Given the description of an element on the screen output the (x, y) to click on. 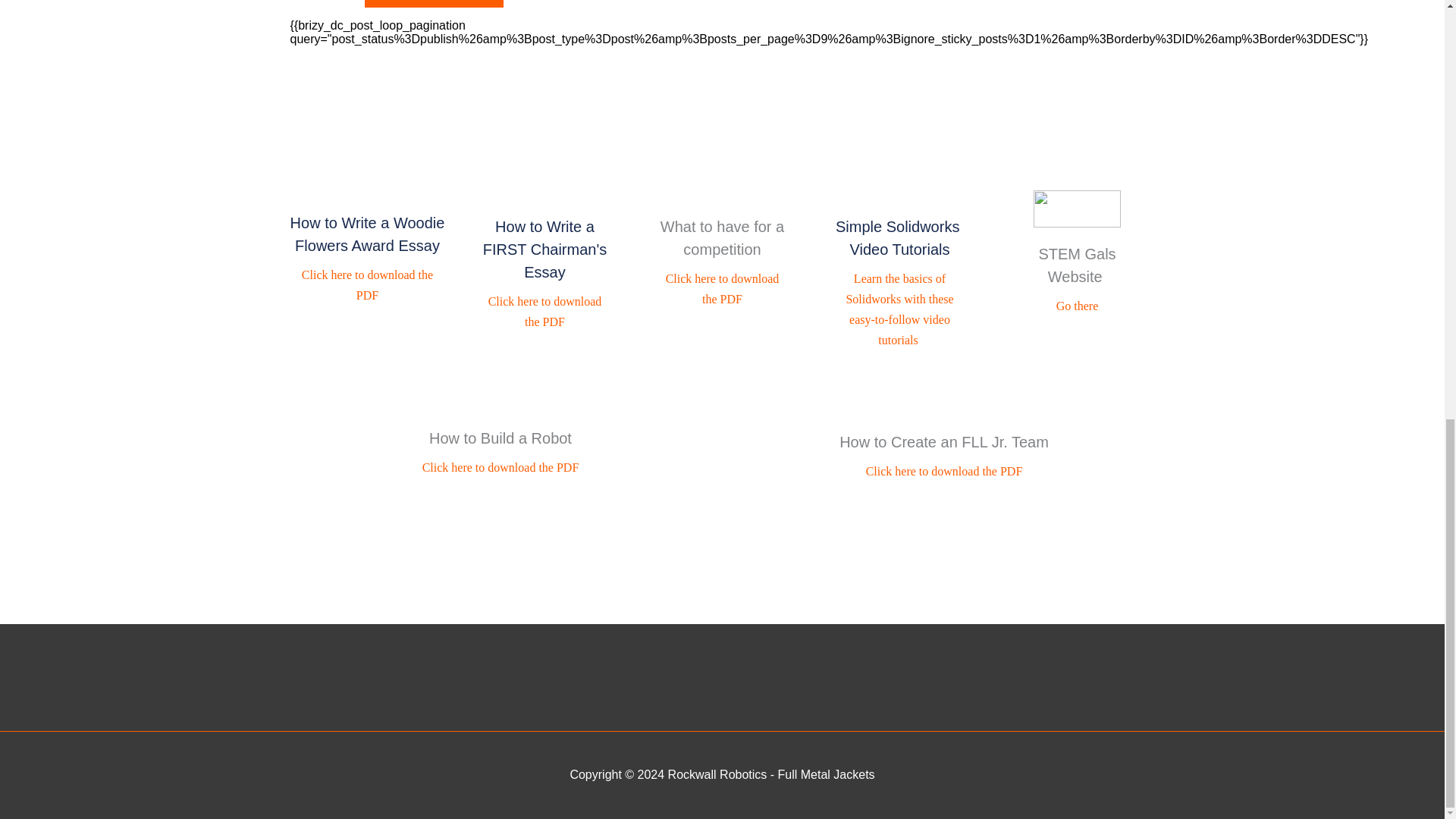
Click here to download the PDF (368, 285)
Click here to download the PDF (944, 471)
Go there (1078, 305)
Click here to download the PDF (500, 467)
READ MORE (433, 3)
Click here to download the PDF (546, 311)
Click here to download the PDF (724, 288)
